Given the description of an element on the screen output the (x, y) to click on. 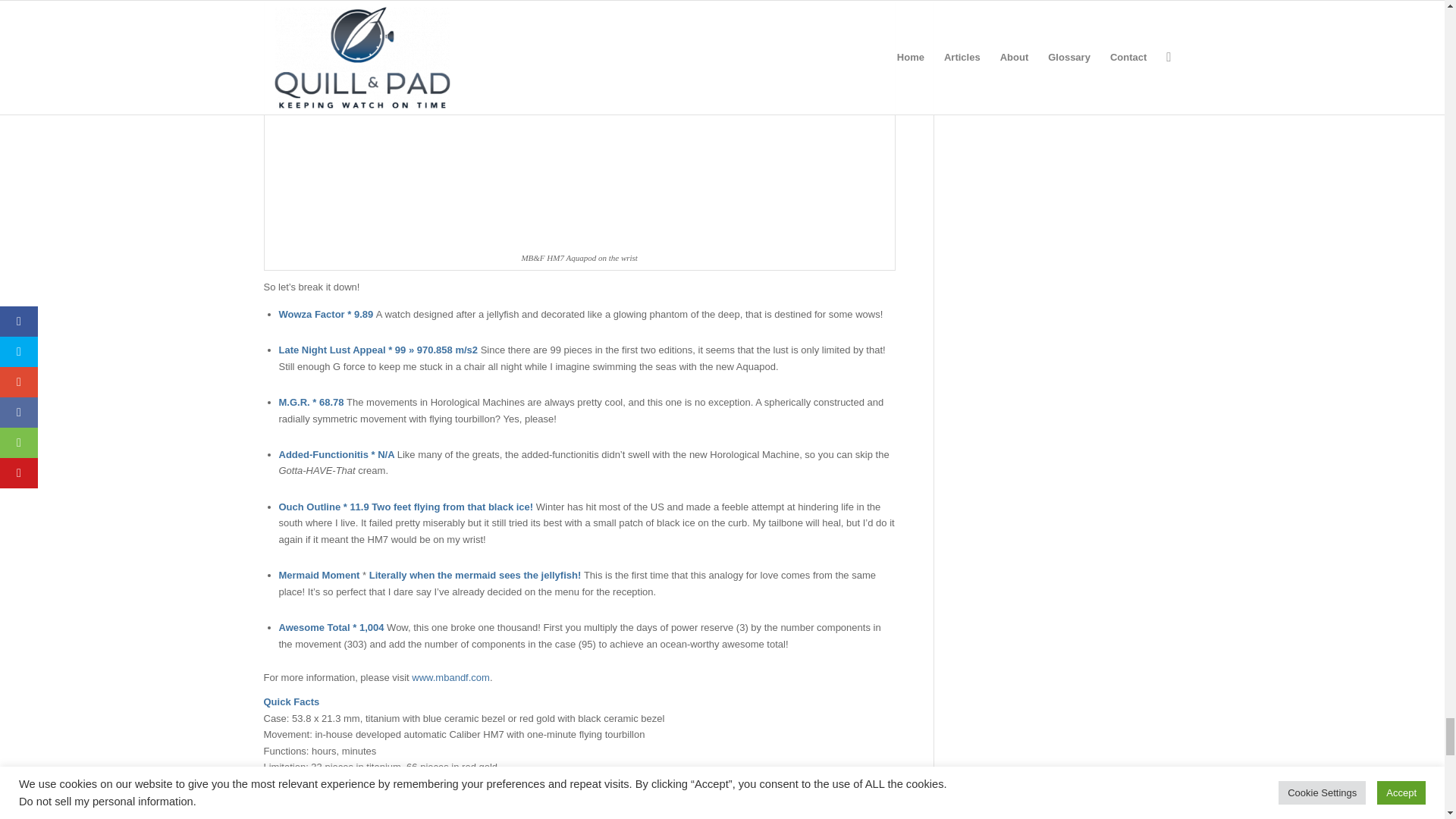
www.mbandf.com (450, 677)
